Given the description of an element on the screen output the (x, y) to click on. 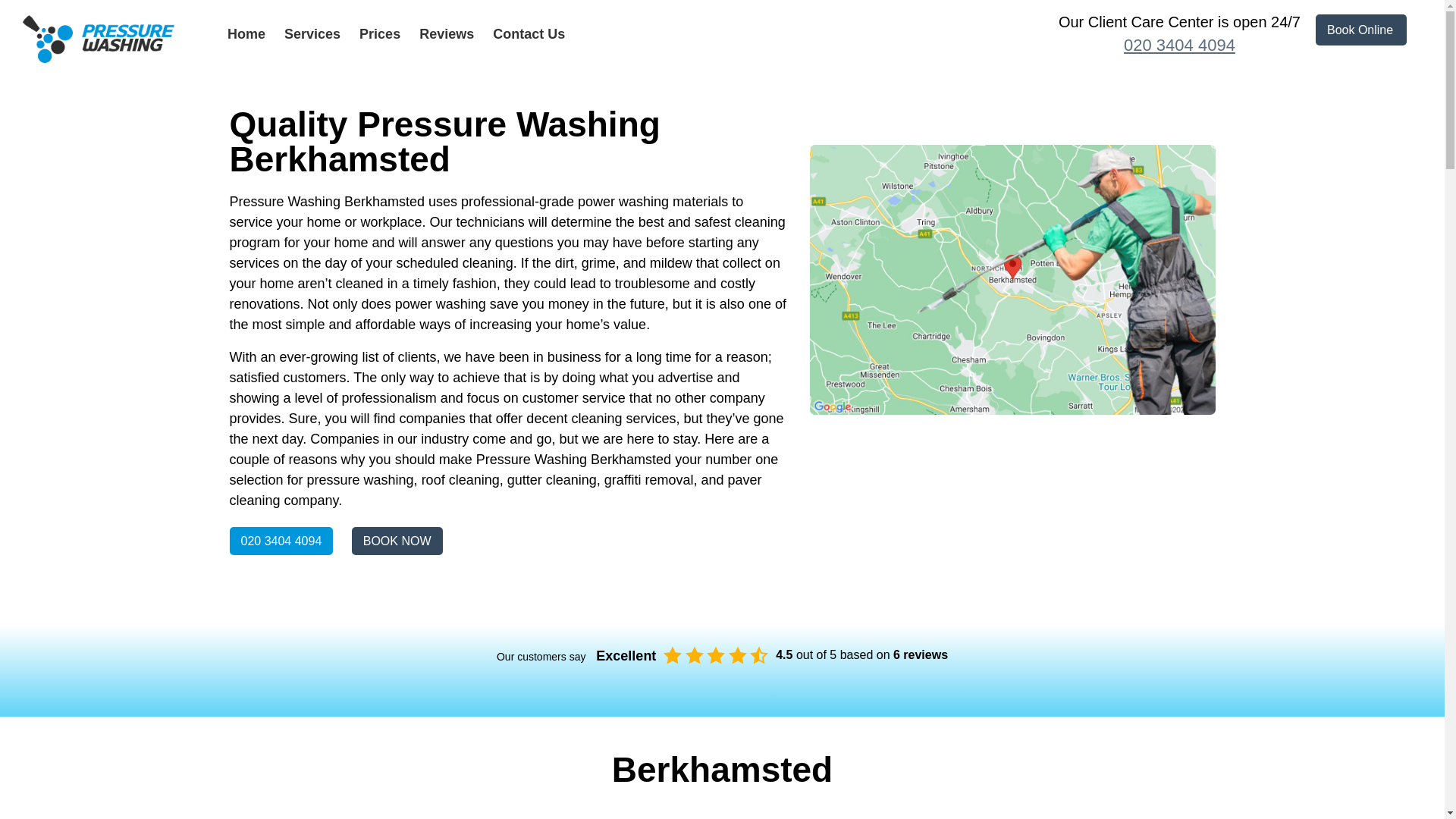
Contact Us (528, 33)
Home (245, 33)
Services (311, 33)
Book Online (1361, 29)
Prices (379, 33)
BOOK NOW (397, 541)
020 3404 4094 (280, 541)
020 3404 4094 (1179, 45)
Reviews (446, 33)
